Given the description of an element on the screen output the (x, y) to click on. 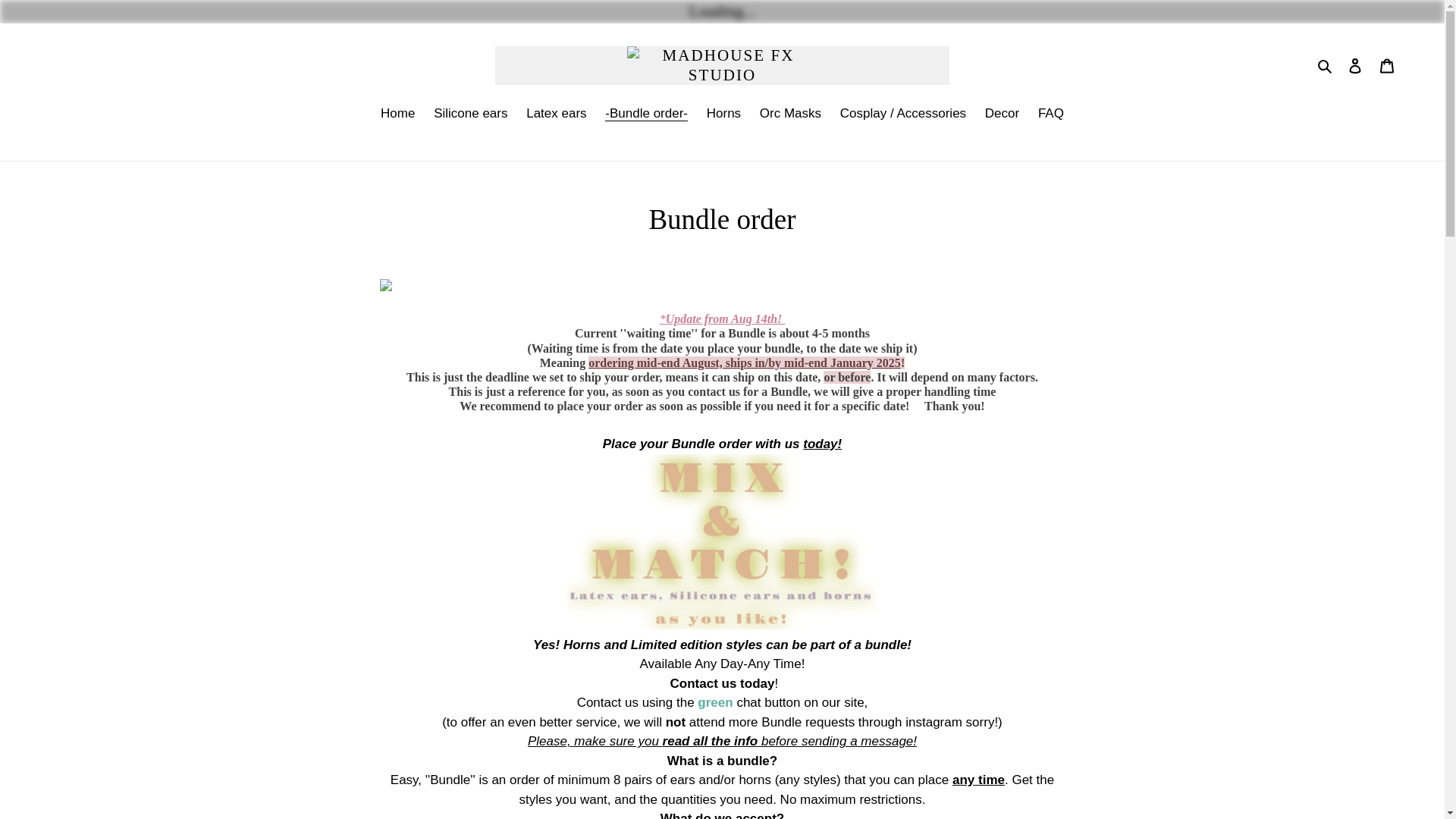
Decor (1001, 115)
-Bundle order- (645, 115)
Home (397, 115)
Cart (1387, 65)
Latex ears (556, 115)
Search (1326, 65)
Log in (1355, 65)
Orc Masks (790, 115)
FAQ (1050, 115)
Horns (723, 115)
